Given the description of an element on the screen output the (x, y) to click on. 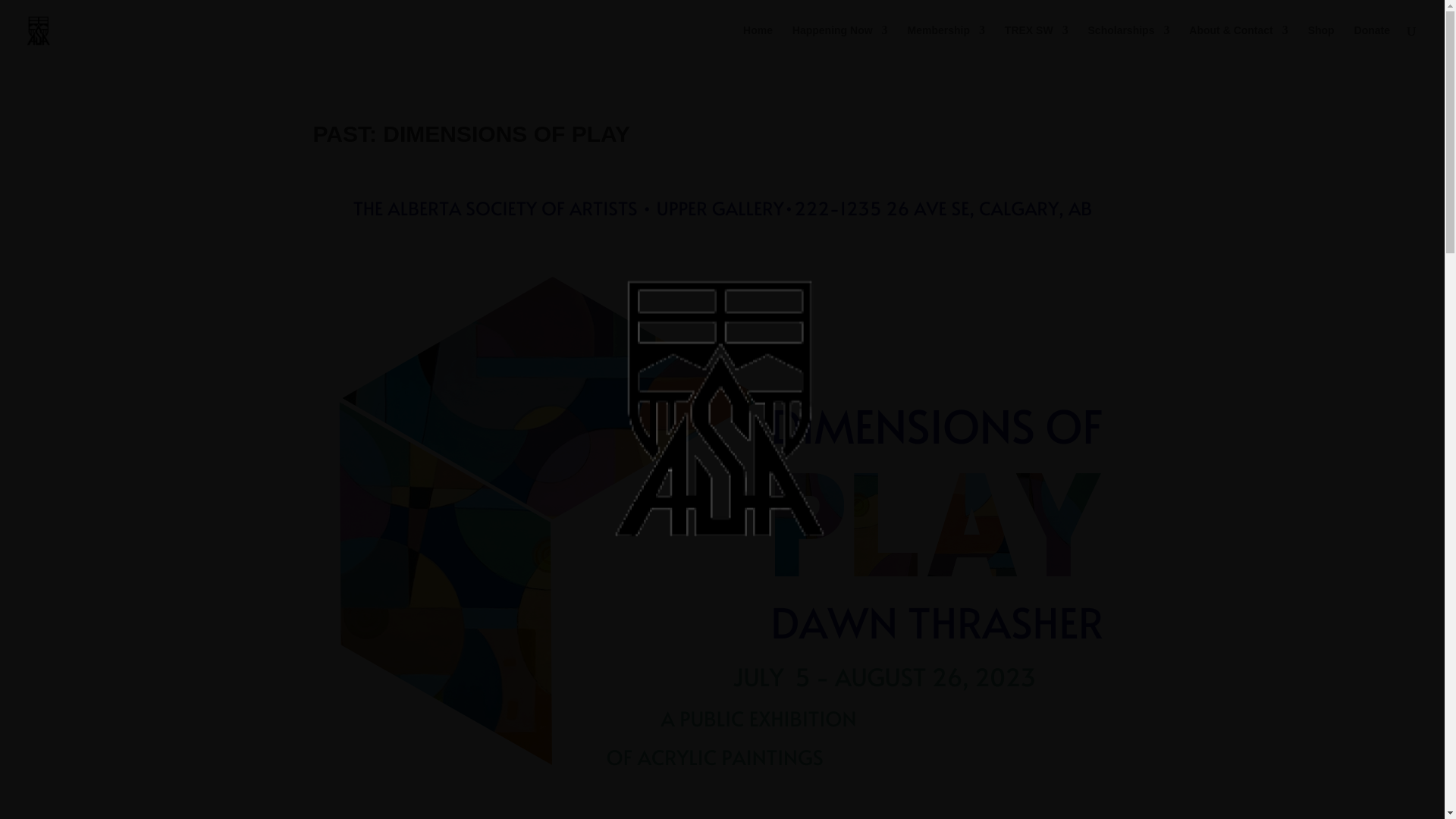
Scholarships (1128, 42)
TREX SW (1036, 42)
Donate (1372, 42)
Membership (945, 42)
Happening Now (840, 42)
